Given the description of an element on the screen output the (x, y) to click on. 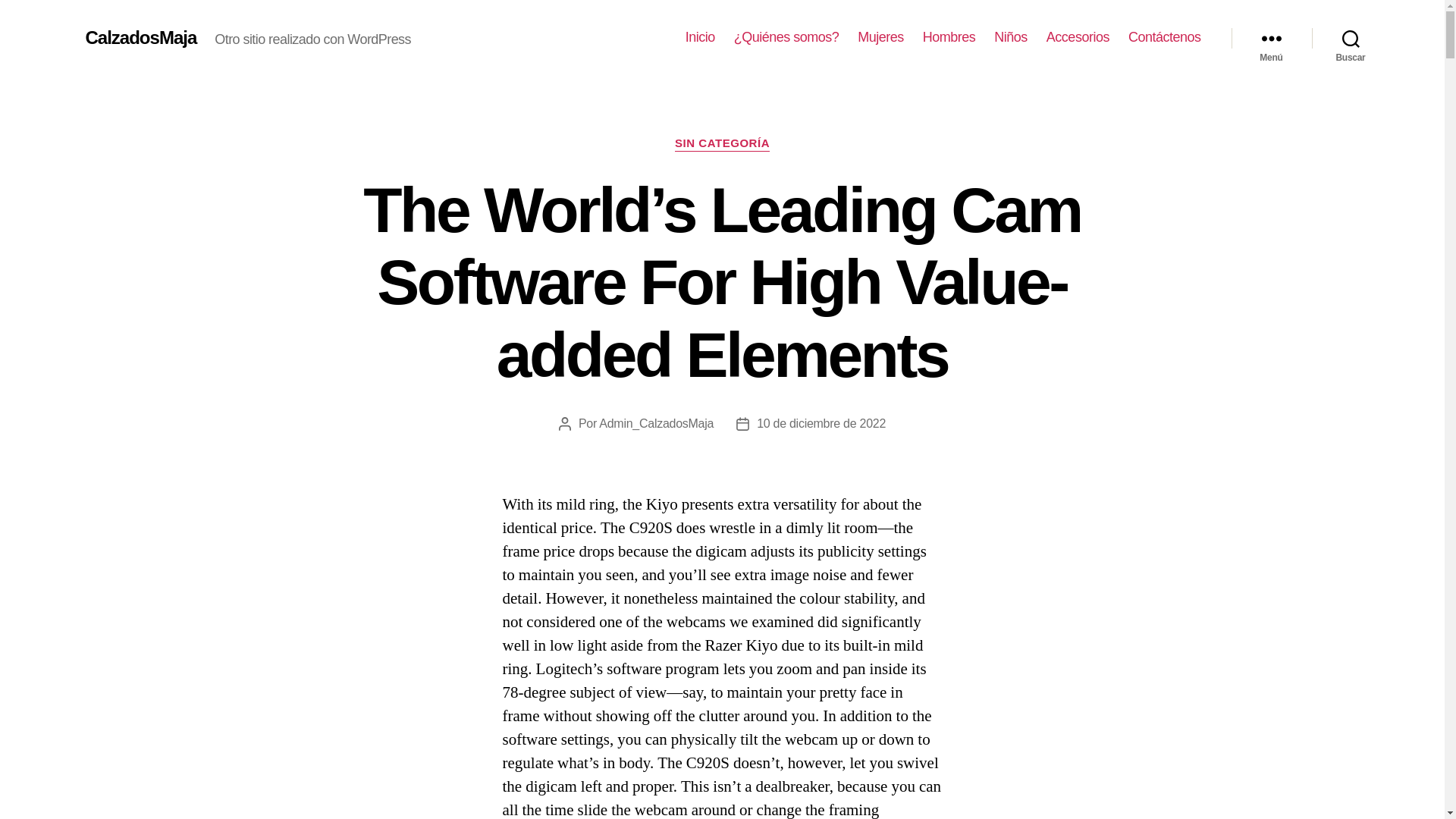
Accesorios (1077, 37)
Inicio (699, 37)
Buscar (1350, 37)
Hombres (949, 37)
10 de diciembre de 2022 (821, 422)
Mujeres (880, 37)
CalzadosMaja (140, 37)
